Given the description of an element on the screen output the (x, y) to click on. 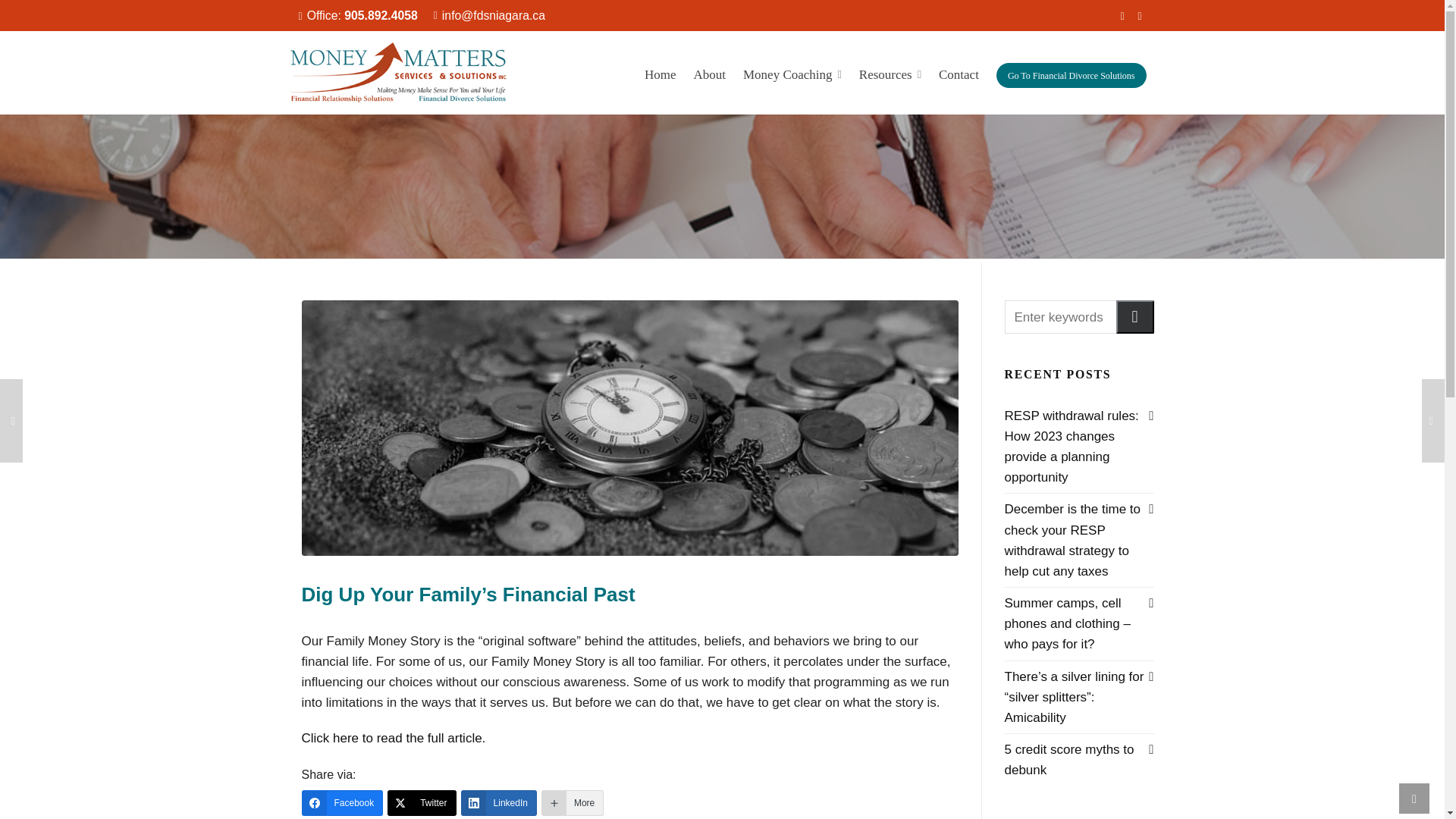
Go To Financial Divorce Solutions (1071, 73)
Money Coaching (792, 72)
Resources (890, 72)
